Given the description of an element on the screen output the (x, y) to click on. 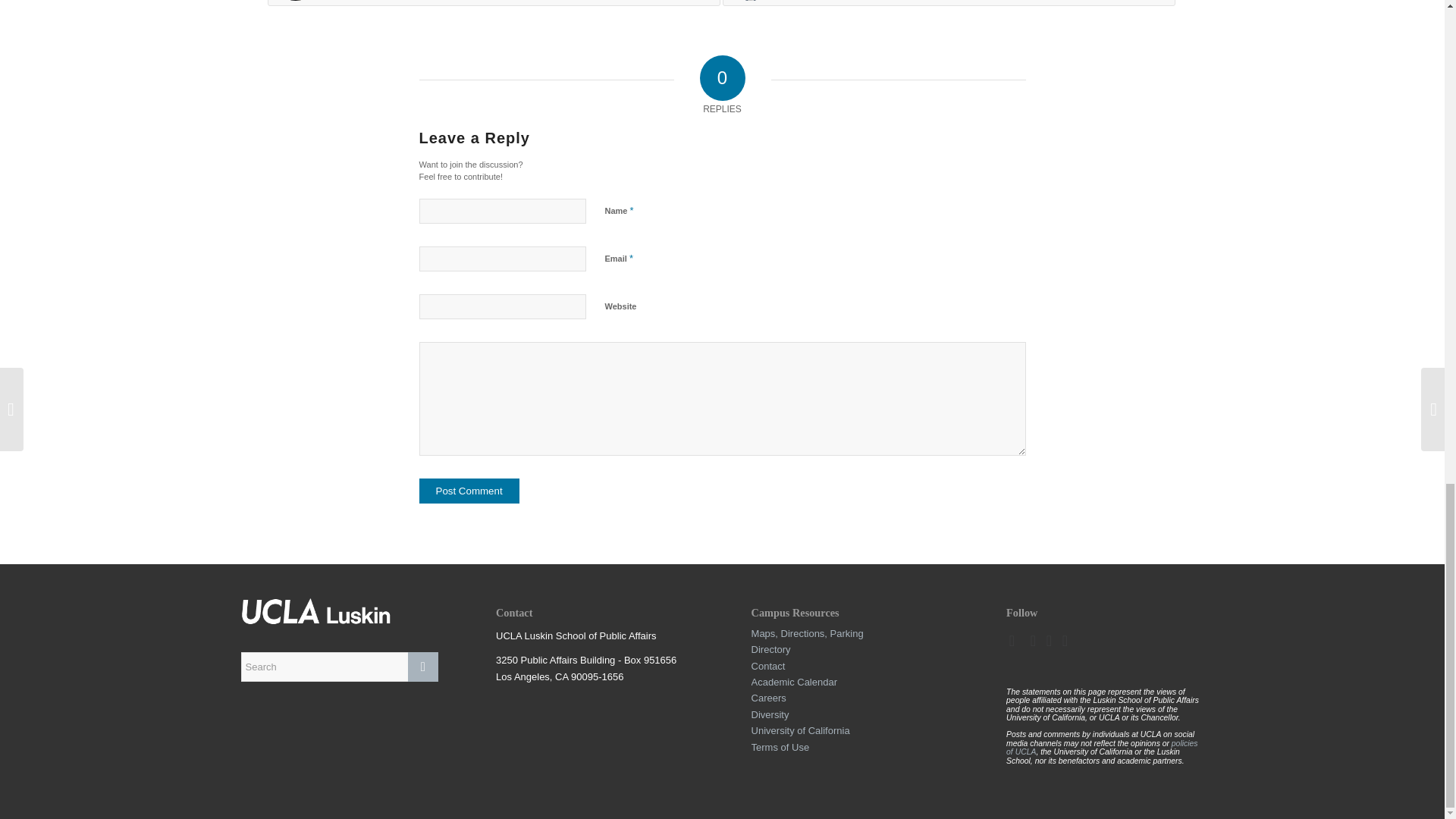
Post Comment (468, 490)
